Given the description of an element on the screen output the (x, y) to click on. 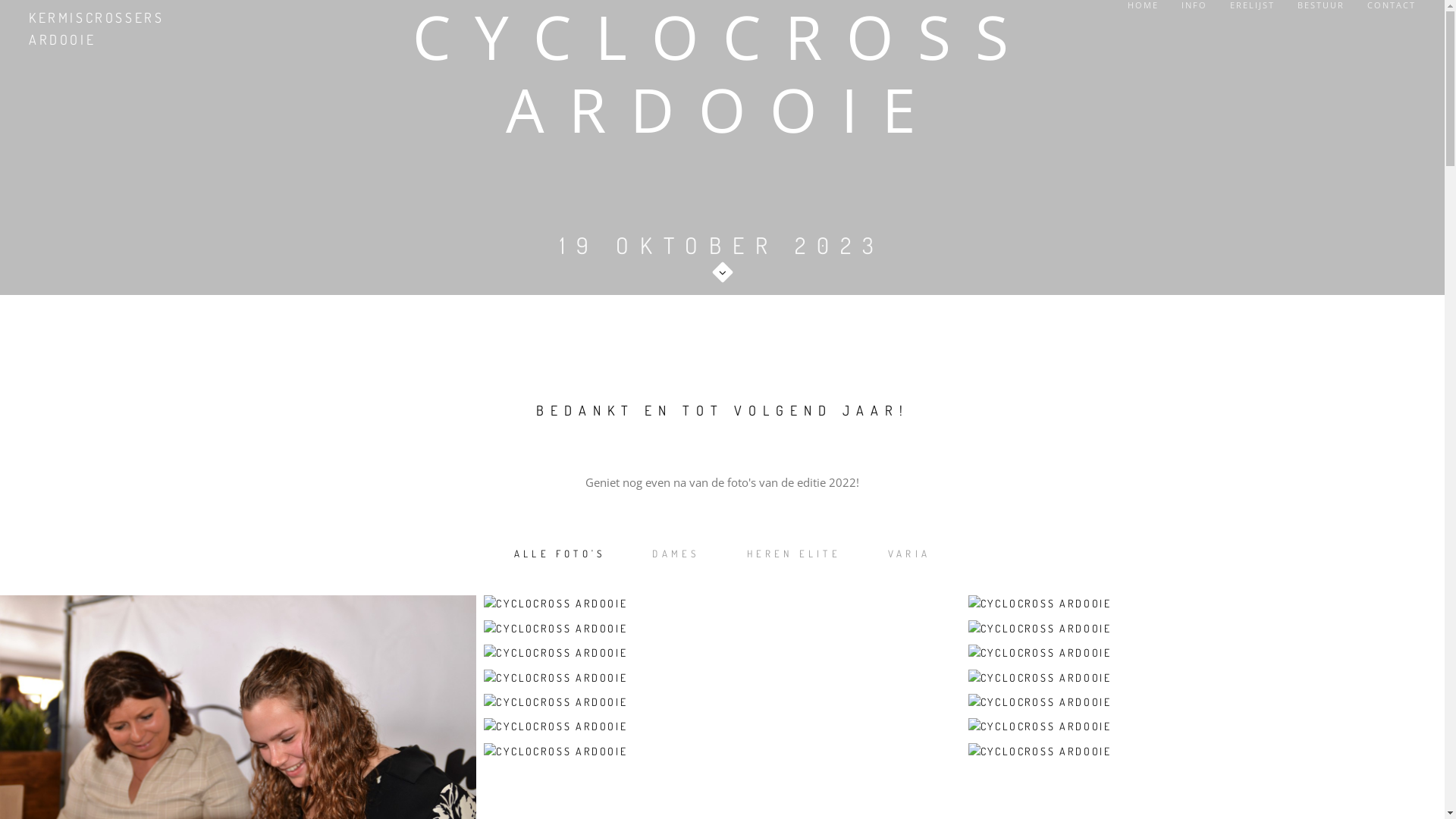
KERMISCROSSERS ARDOOIE Element type: text (73, 28)
INFO Element type: text (1194, 5)
CONTACT Element type: text (1391, 5)
ALLE FOTO'S Element type: text (559, 553)
ERELIJST Element type: text (1252, 5)
VARIA Element type: text (909, 553)
HOME Element type: text (1142, 5)
HEREN ELITE Element type: text (793, 553)
BESTUUR Element type: text (1320, 5)
DAMES Element type: text (675, 553)
